Given the description of an element on the screen output the (x, y) to click on. 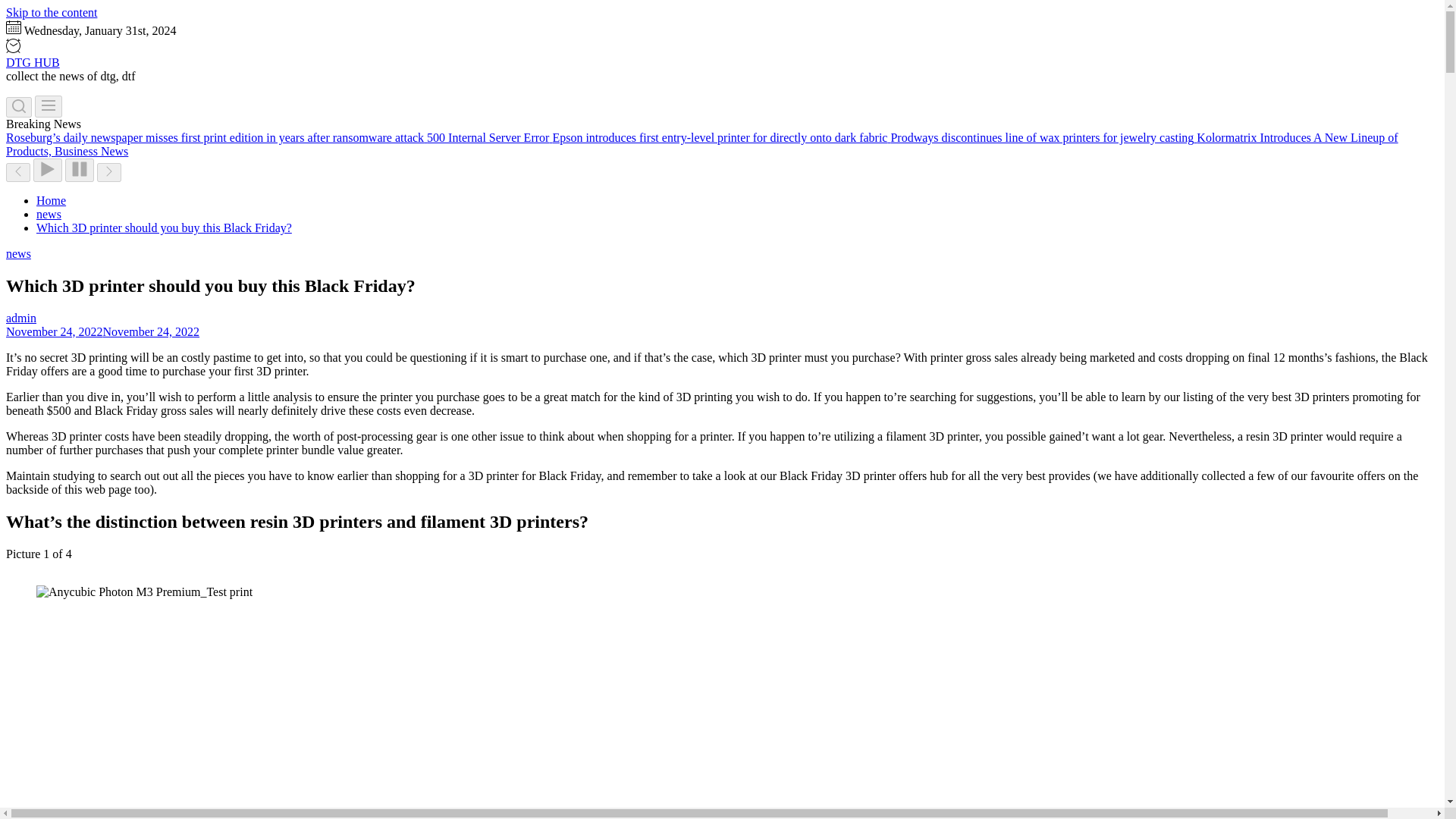
500 Internal Server Error (488, 137)
DTG HUB (32, 62)
news (17, 253)
Home (50, 200)
news (48, 214)
November 24, 2022November 24, 2022 (102, 331)
